Given the description of an element on the screen output the (x, y) to click on. 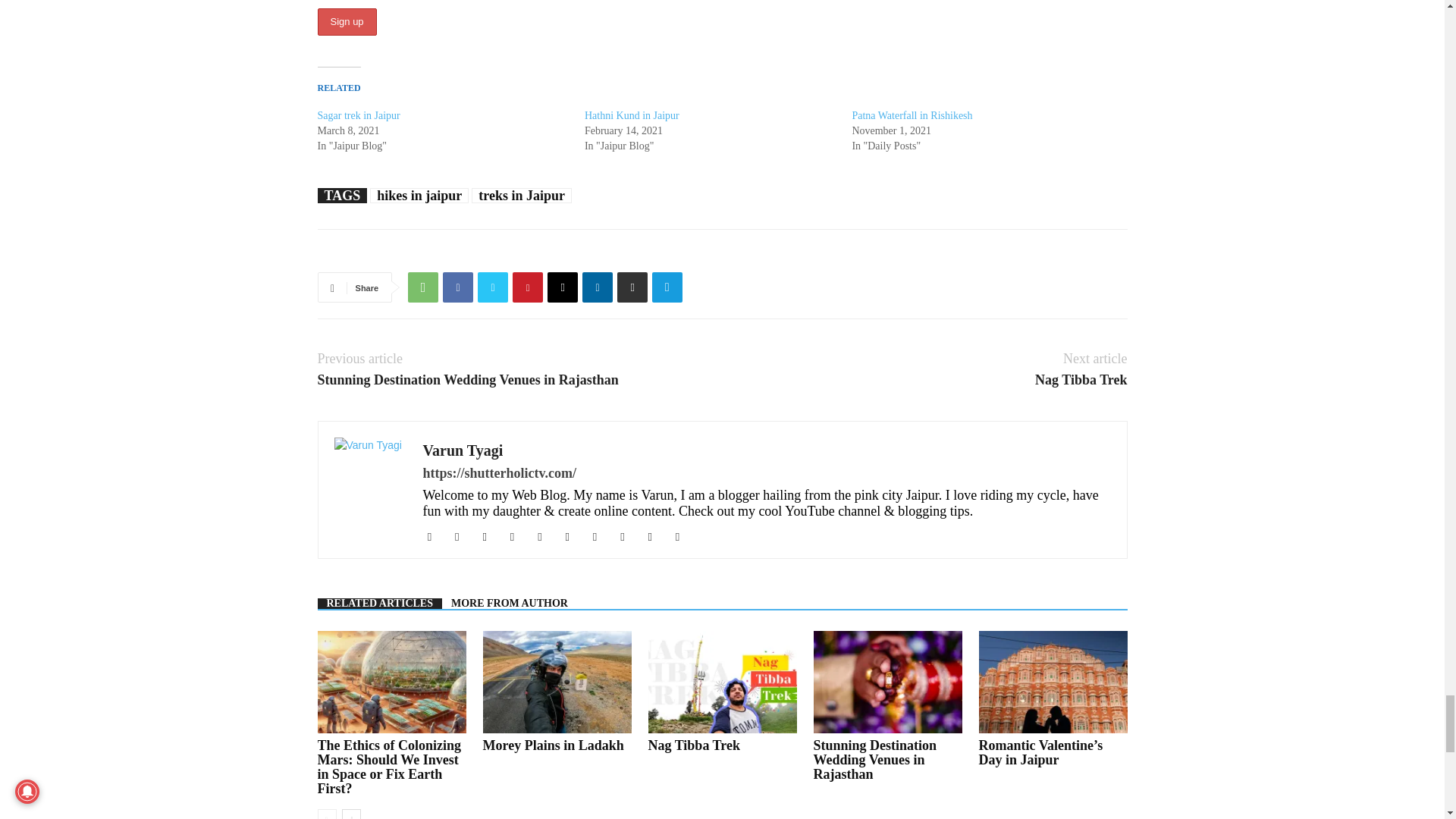
Sign up (346, 22)
